Given the description of an element on the screen output the (x, y) to click on. 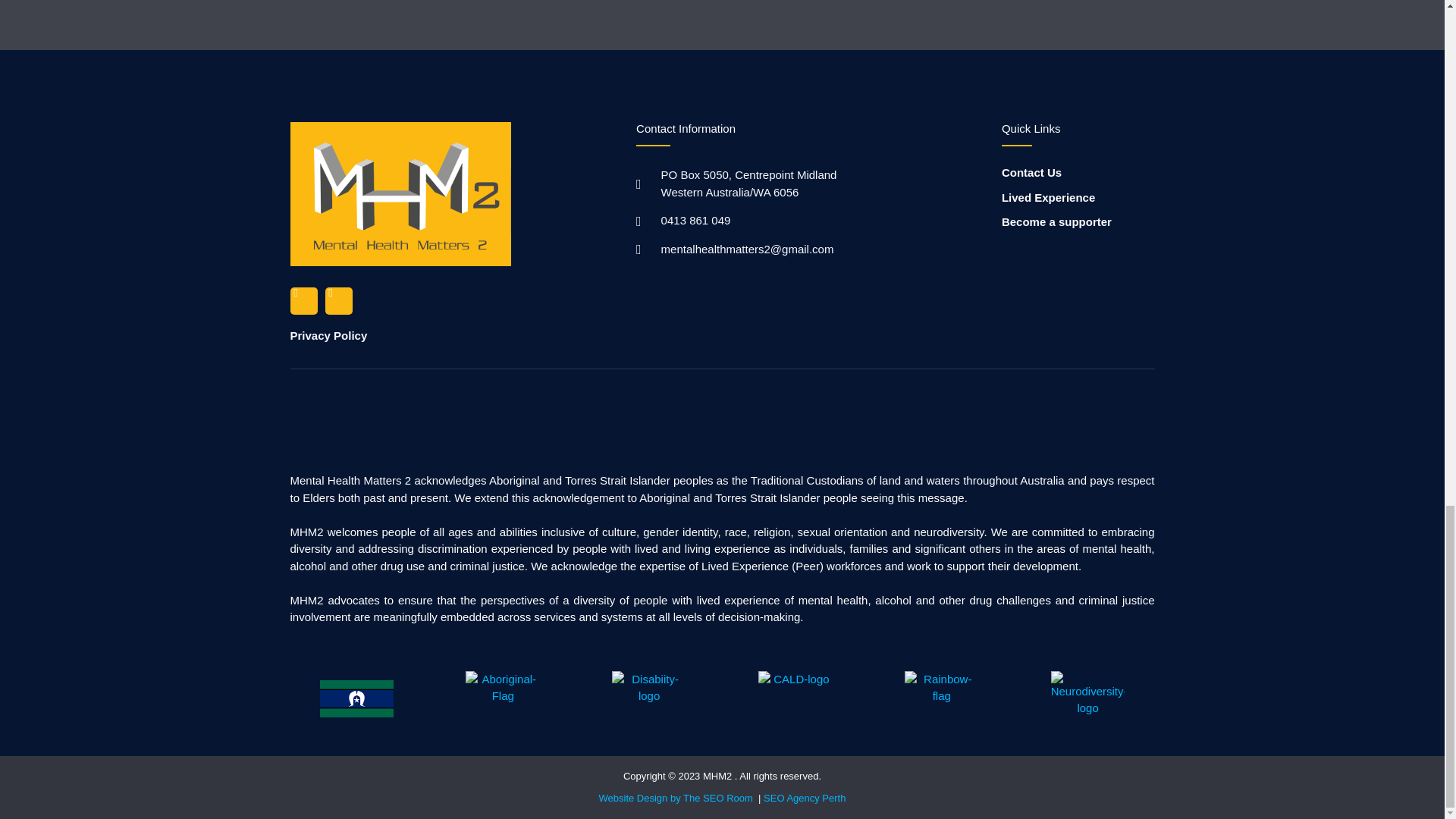
Default Title (502, 698)
Default Title (1088, 698)
Default Title (356, 698)
Default Title (649, 698)
Default Title (942, 698)
Default Title (795, 698)
